Given the description of an element on the screen output the (x, y) to click on. 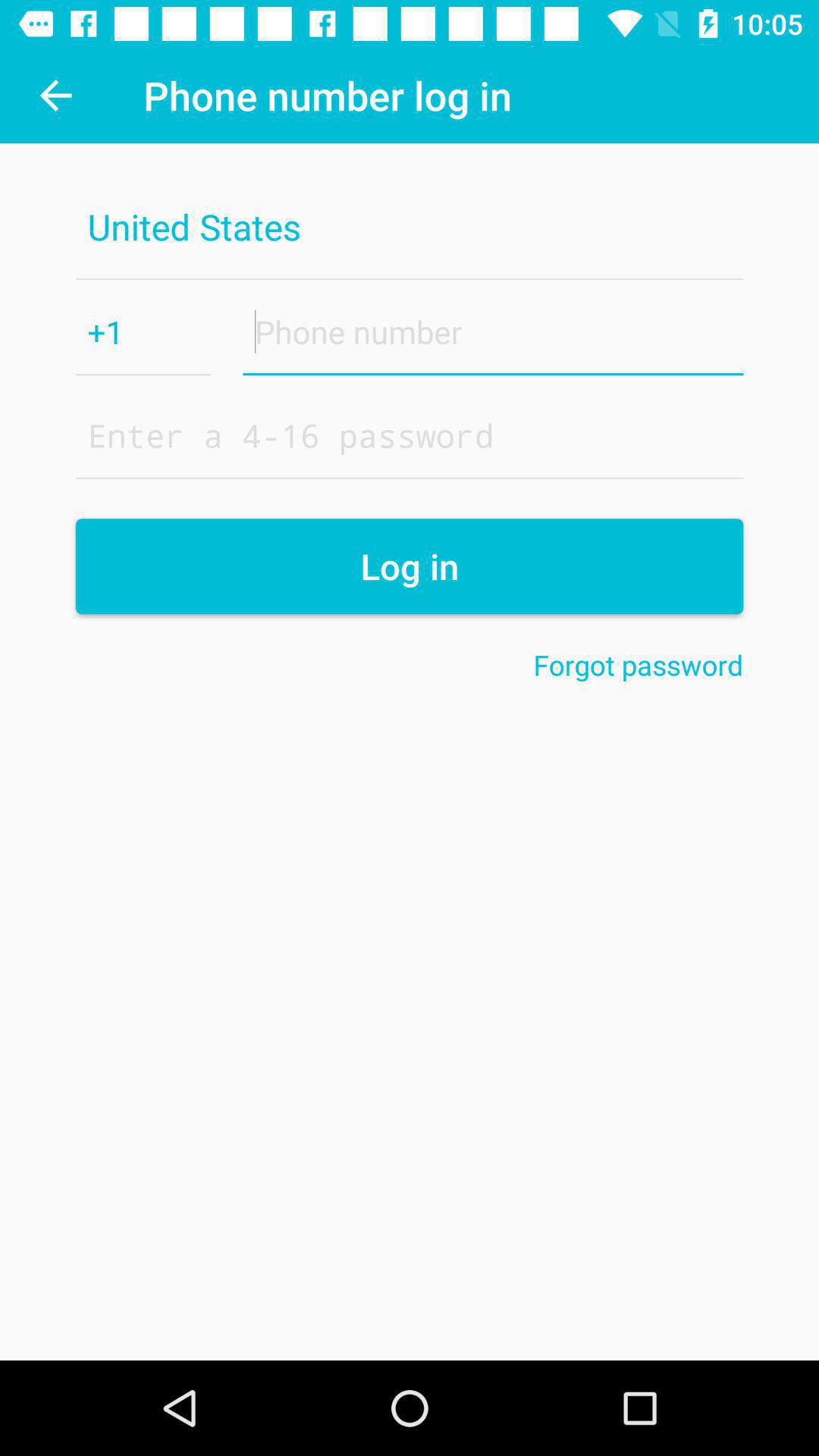
turn off the item to the left of the phone number log icon (55, 95)
